Given the description of an element on the screen output the (x, y) to click on. 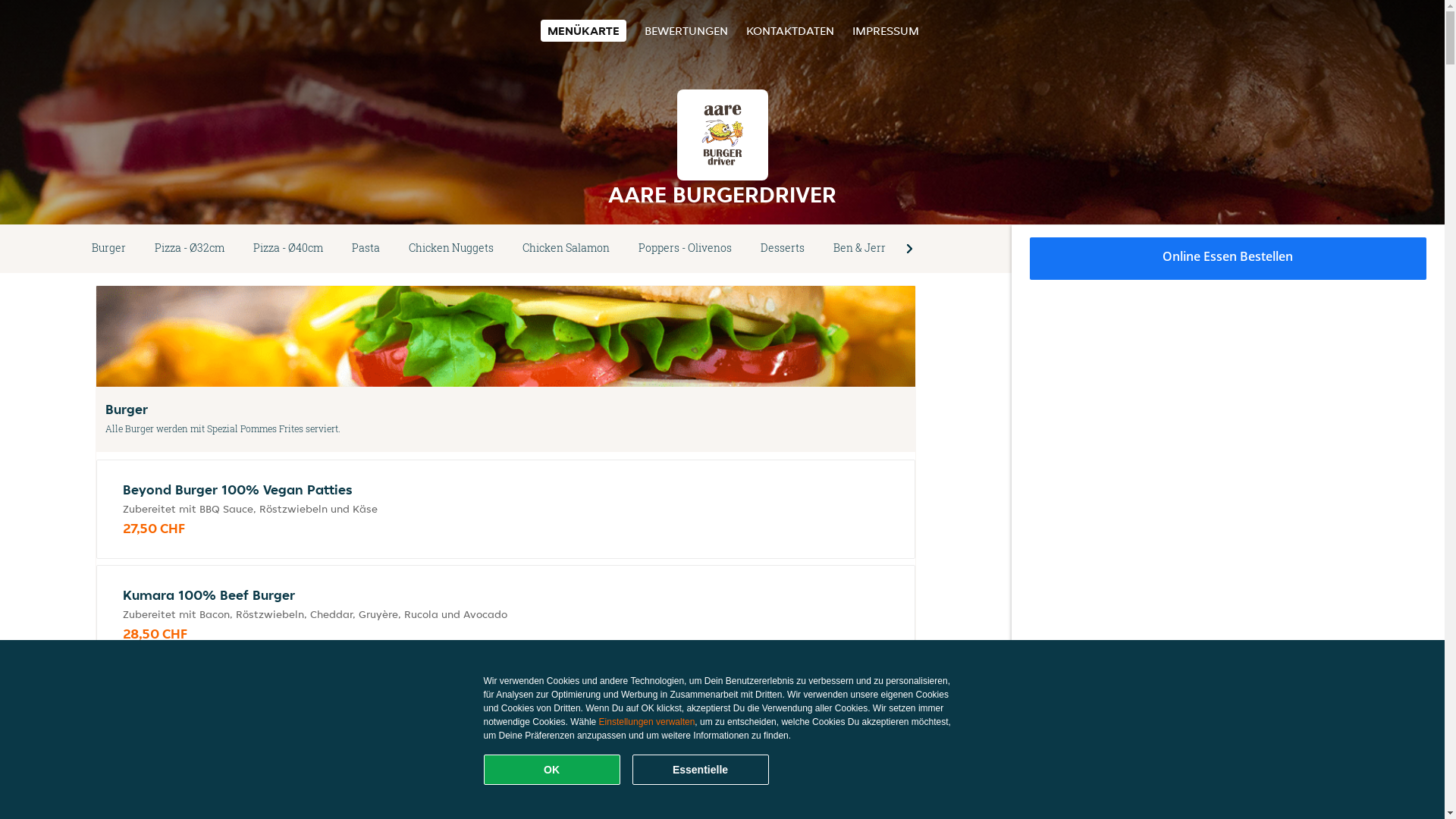
Einstellungen verwalten Element type: text (647, 721)
KONTAKTDATEN Element type: text (790, 30)
Chicken Nuggets Element type: text (451, 248)
Pasta Element type: text (365, 248)
IMPRESSUM Element type: text (885, 30)
Essentielle Element type: text (700, 769)
Burger Element type: text (108, 248)
Online Essen Bestellen Element type: text (1228, 258)
Poppers - Olivenos Element type: text (685, 248)
Desserts Element type: text (782, 248)
Chicken Salamon Element type: text (566, 248)
Ben & Jerry's Element type: text (866, 248)
BEWERTUNGEN Element type: text (686, 30)
OK Element type: text (551, 769)
